Given the description of an element on the screen output the (x, y) to click on. 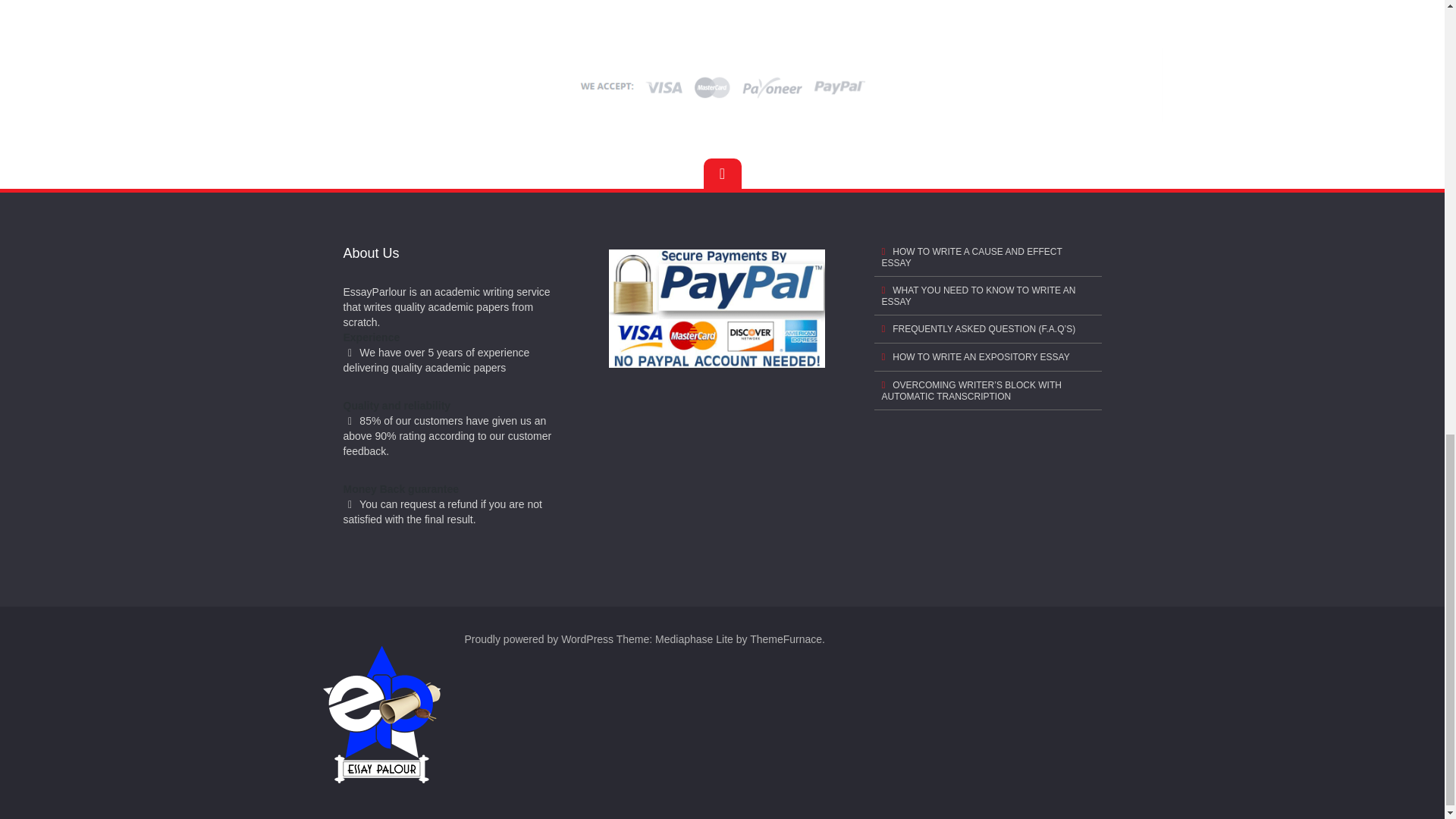
Proudly powered by WordPress (538, 639)
WHAT YOU NEED TO KNOW TO WRITE AN ESSAY (986, 295)
HOW TO WRITE A CAUSE AND EFFECT ESSAY (986, 257)
HOW TO WRITE AN EXPOSITORY ESSAY (986, 357)
ThemeFurnace (785, 639)
